Given the description of an element on the screen output the (x, y) to click on. 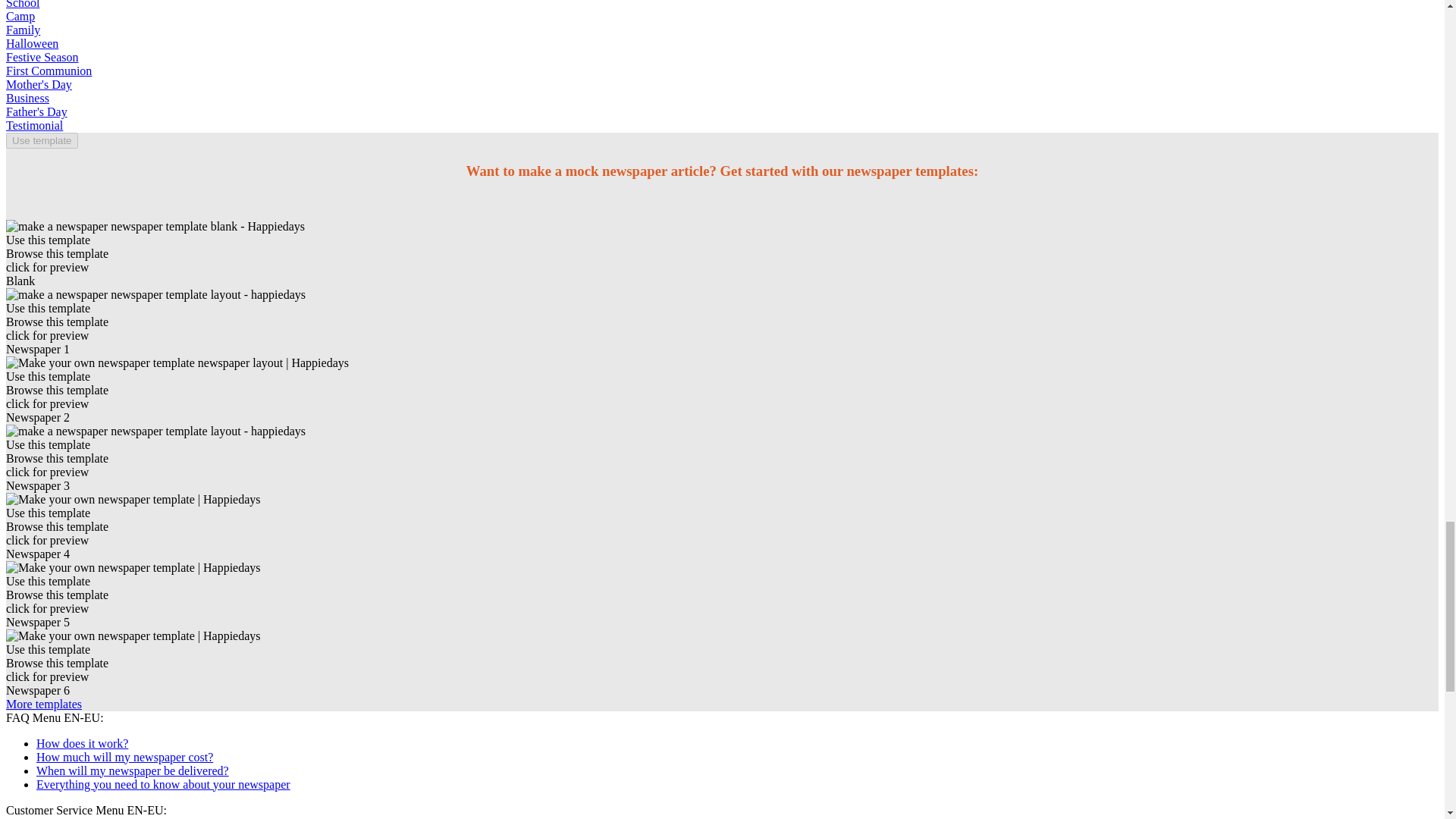
Festive Season (41, 56)
Camp (19, 15)
Family (22, 29)
School (22, 4)
Halloween (31, 42)
Mother's Day (38, 83)
Use template (41, 140)
First Communion (48, 70)
